Given the description of an element on the screen output the (x, y) to click on. 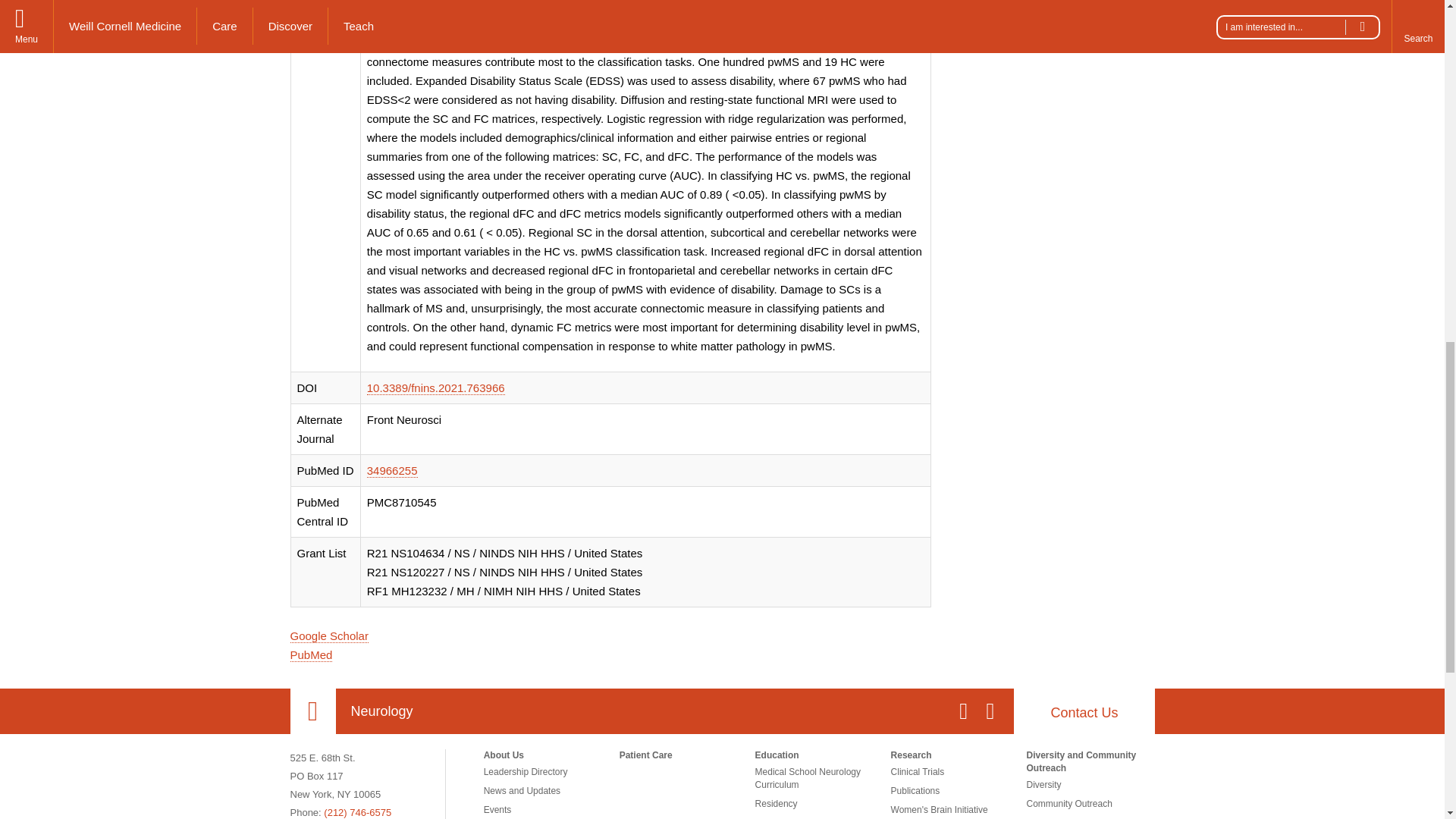
Click to view the PubMed listing for this node (310, 654)
Click to search Google Scholar for this entry (328, 635)
